Given the description of an element on the screen output the (x, y) to click on. 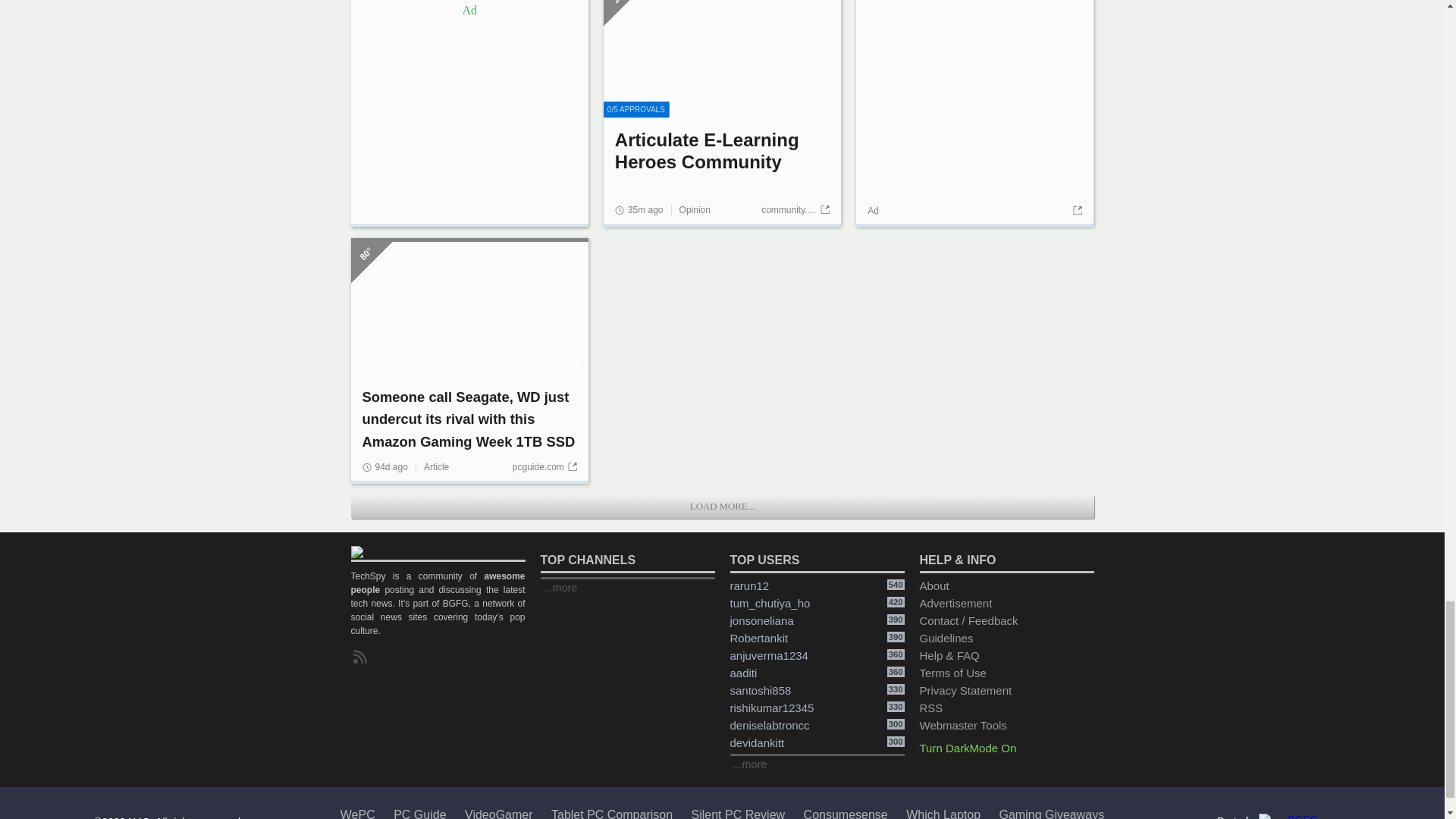
Go to source (1074, 242)
Go to source: studymantra.co.in (542, 498)
RSS Feed (362, 689)
Go to source: pcguide.com (797, 241)
